Given the description of an element on the screen output the (x, y) to click on. 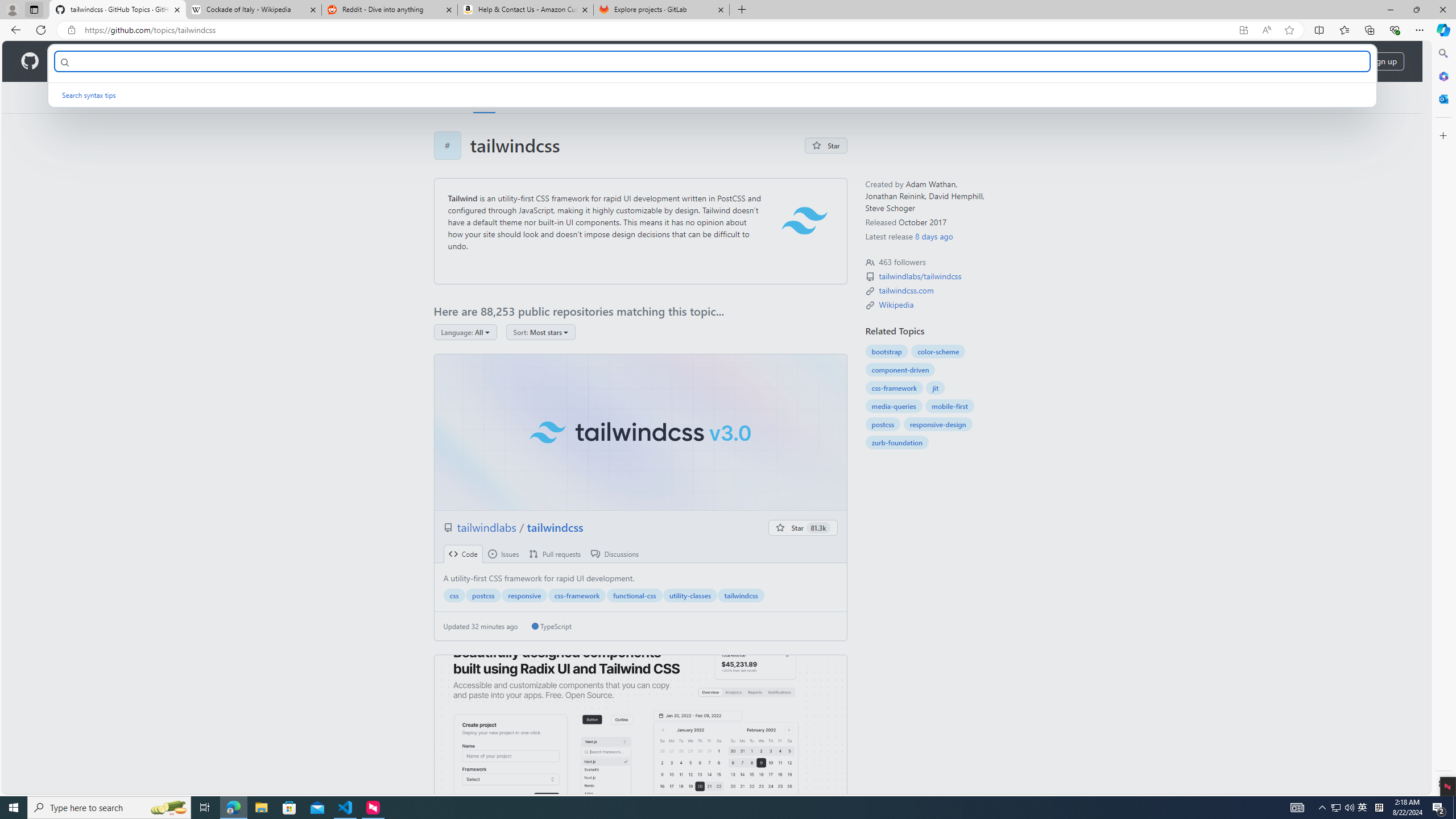
Cockade of Italy - Wikipedia (253, 9)
Updated 32 minutes ago (480, 625)
postcss (882, 423)
color-scheme (938, 351)
 Pull requests (555, 553)
8 days ago (933, 235)
Enterprise (319, 60)
 Issues (502, 553)
Sign up (1382, 61)
